Given the description of an element on the screen output the (x, y) to click on. 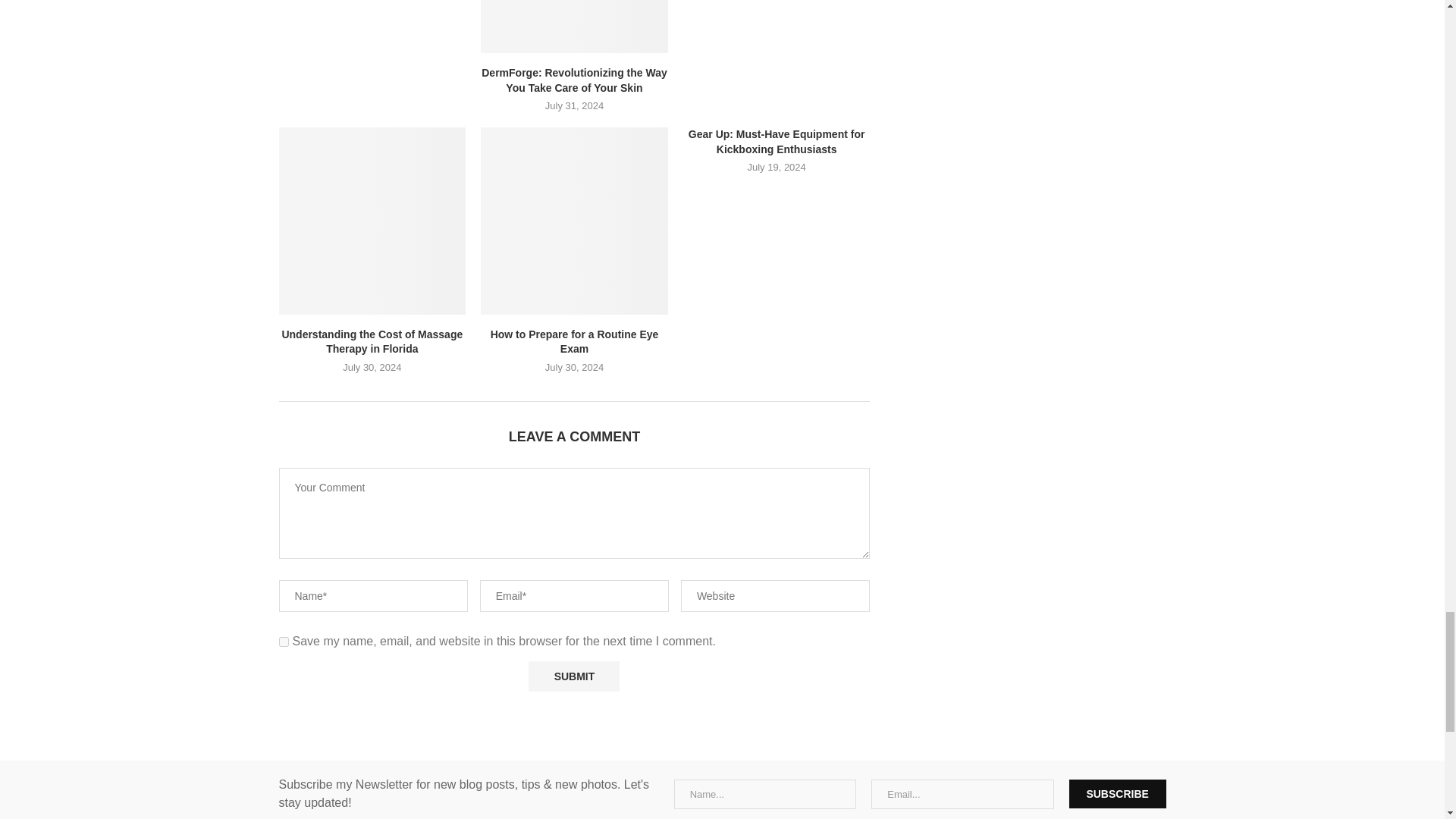
Subscribe (1117, 793)
yes (283, 642)
Submit (574, 675)
